Given the description of an element on the screen output the (x, y) to click on. 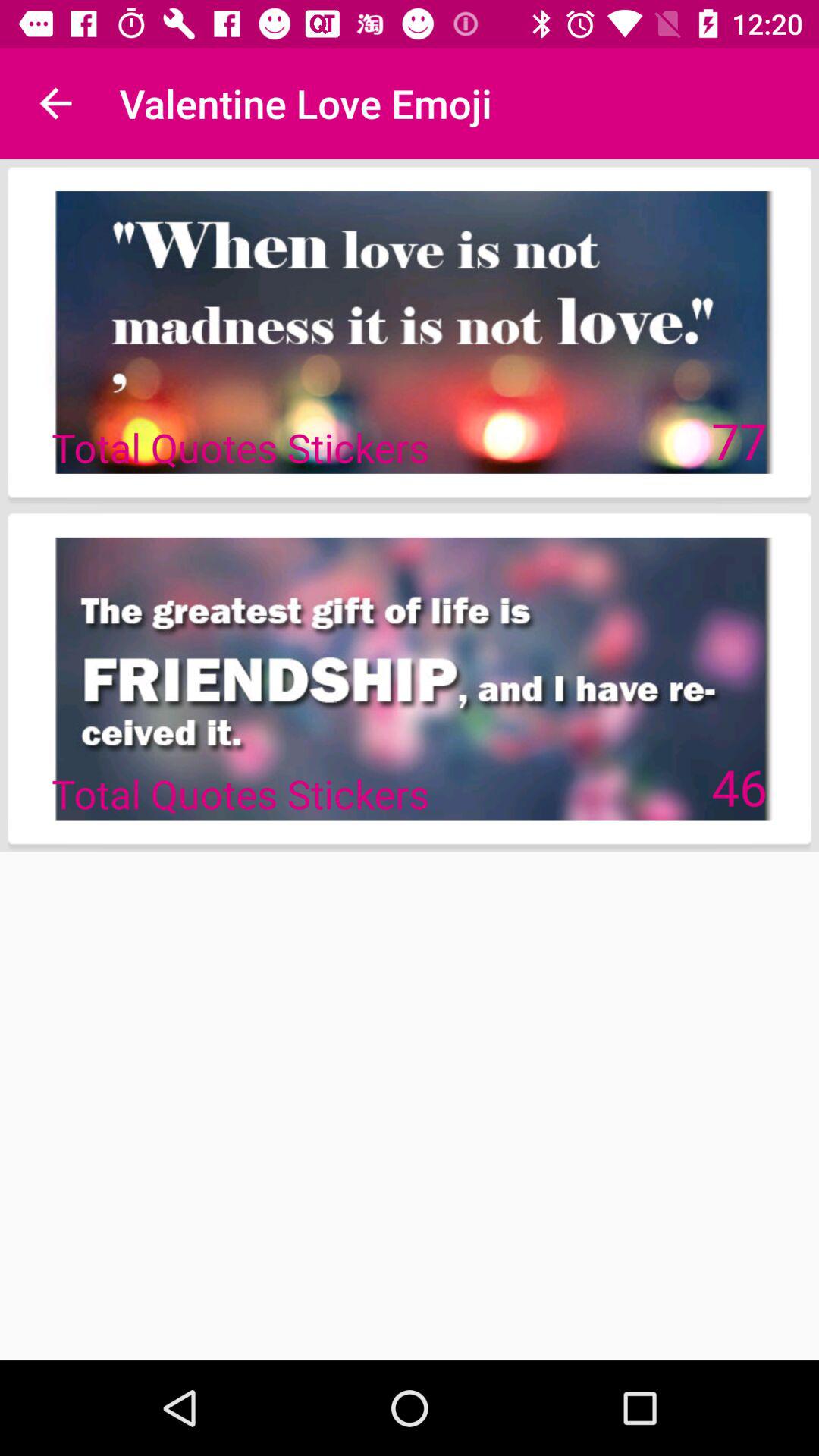
choose the 77 icon (739, 440)
